Given the description of an element on the screen output the (x, y) to click on. 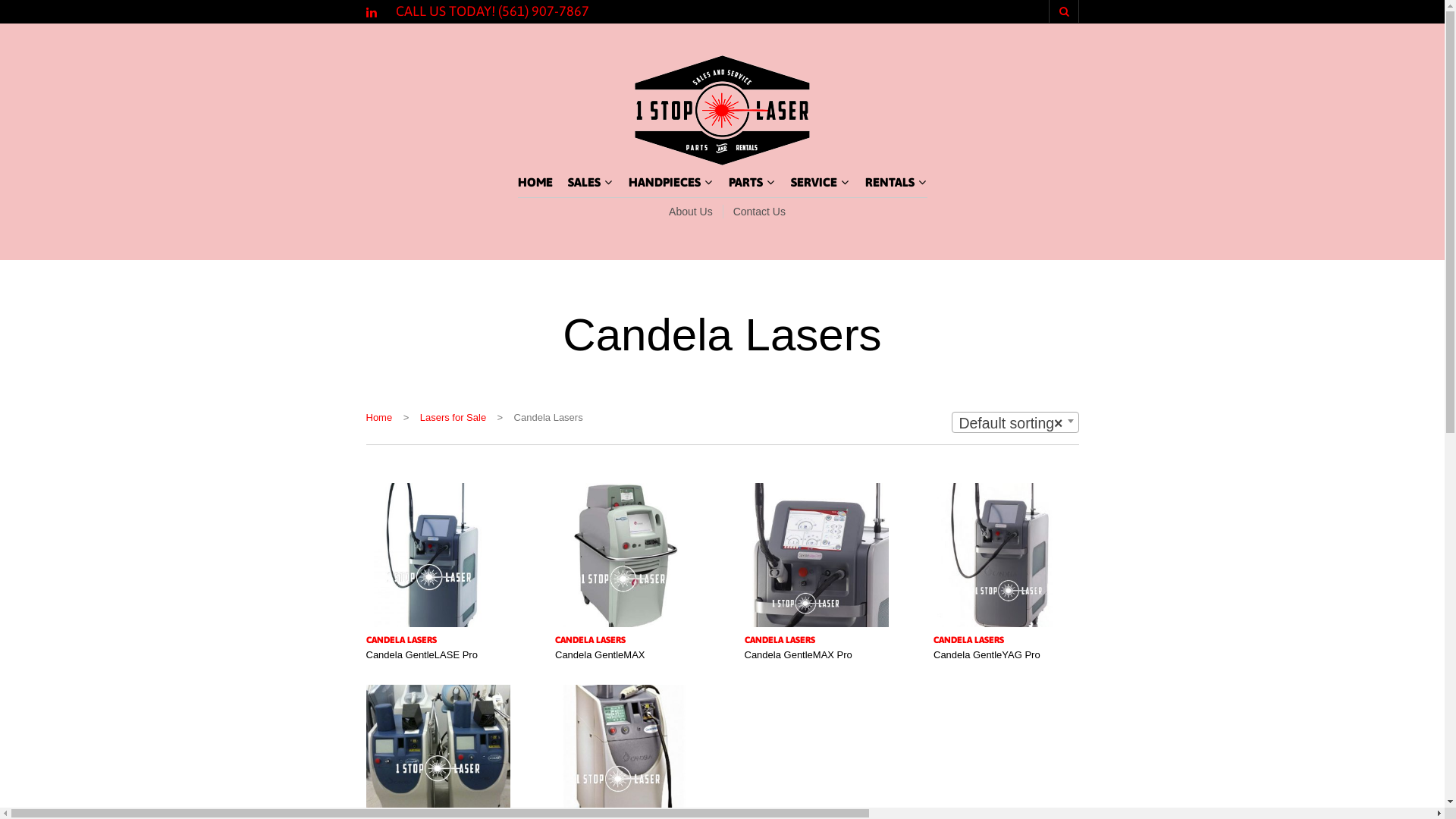
CANDELA LASERS Element type: text (627, 639)
Candela GentleYAG Pro Element type: text (986, 651)
CANDELA LASERS Element type: text (817, 639)
Candela GentleMAX Element type: text (600, 651)
PARTS Element type: text (746, 182)
CANDELA LASERS Element type: text (438, 639)
HOME Element type: text (534, 182)
HANDPIECES Element type: text (665, 182)
Candela GentleLASE Pro Element type: text (420, 651)
SERVICE Element type: text (814, 182)
Contact Us Element type: text (753, 211)
RENTALS Element type: text (890, 182)
About Us Element type: text (690, 211)
Candela GentleMAX Pro Element type: text (798, 651)
CANDELA LASERS Element type: text (1006, 639)
SALES Element type: text (585, 182)
Lasers for Sale Element type: text (453, 417)
Home Element type: text (378, 417)
